Given the description of an element on the screen output the (x, y) to click on. 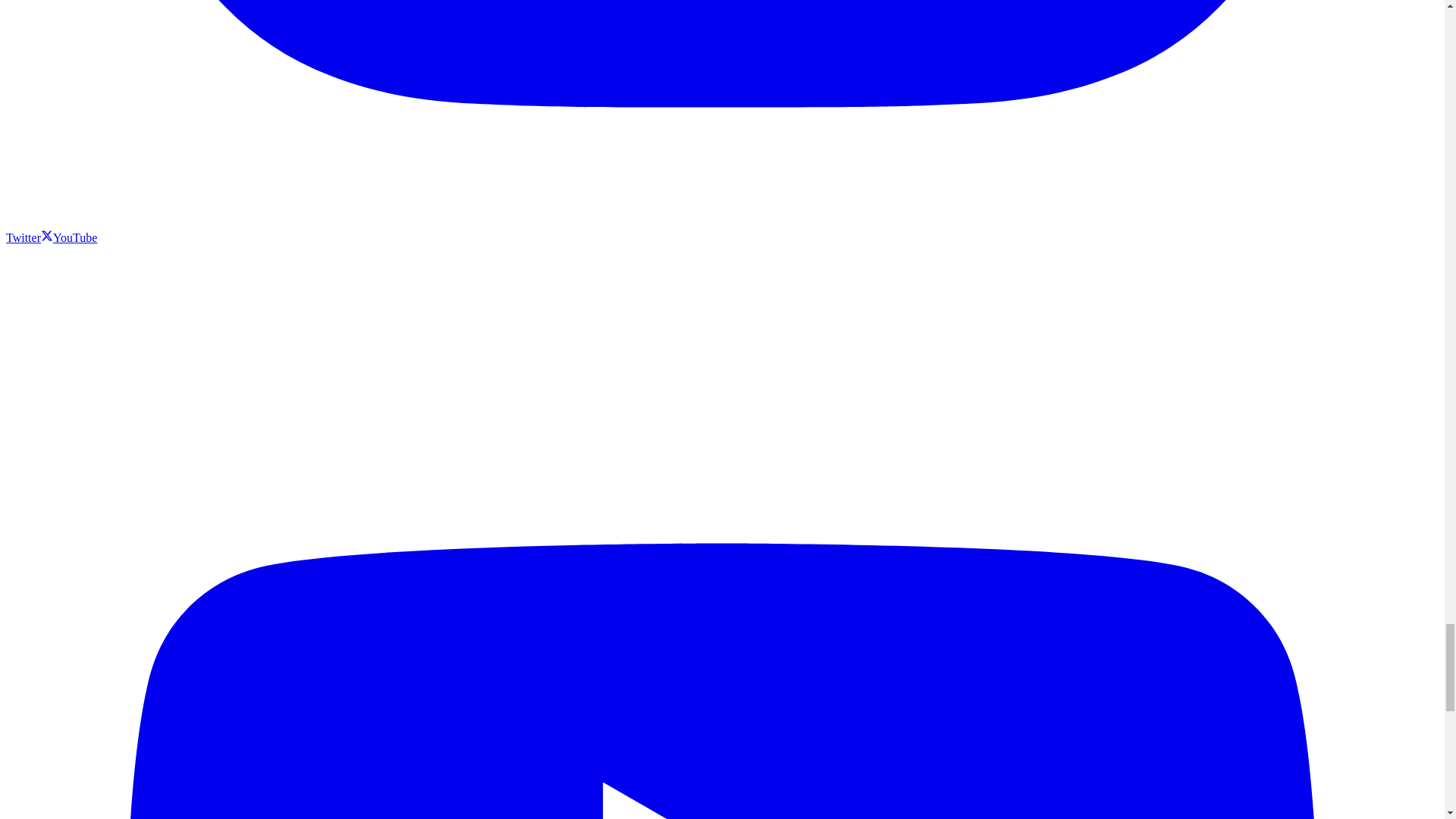
Twitter (28, 237)
